Given the description of an element on the screen output the (x, y) to click on. 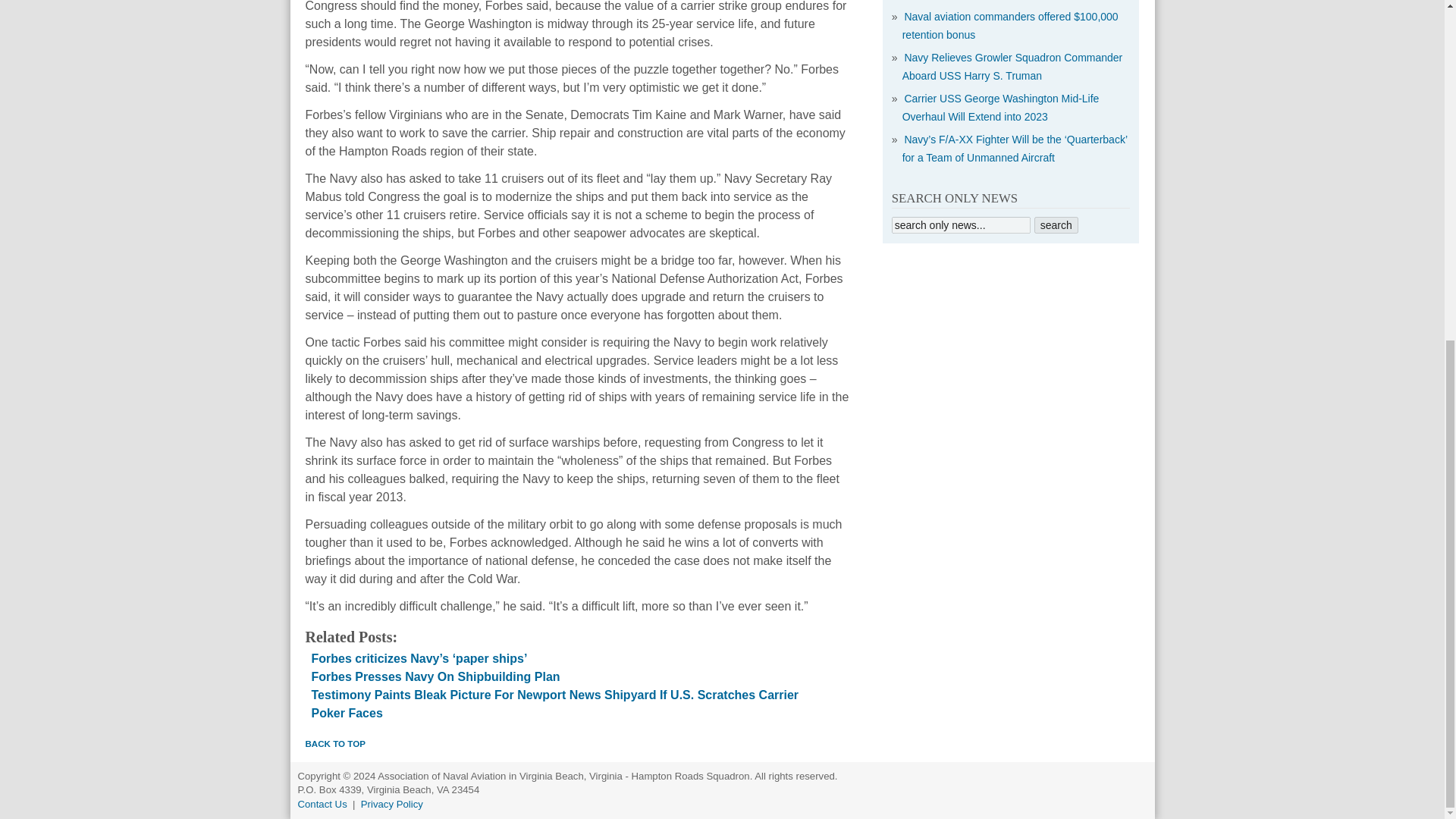
search (1055, 225)
search (1055, 225)
search only news... (960, 225)
search only news... (960, 225)
Forbes Presses Navy On Shipbuilding Plan (435, 676)
Poker Faces (346, 712)
